Given the description of an element on the screen output the (x, y) to click on. 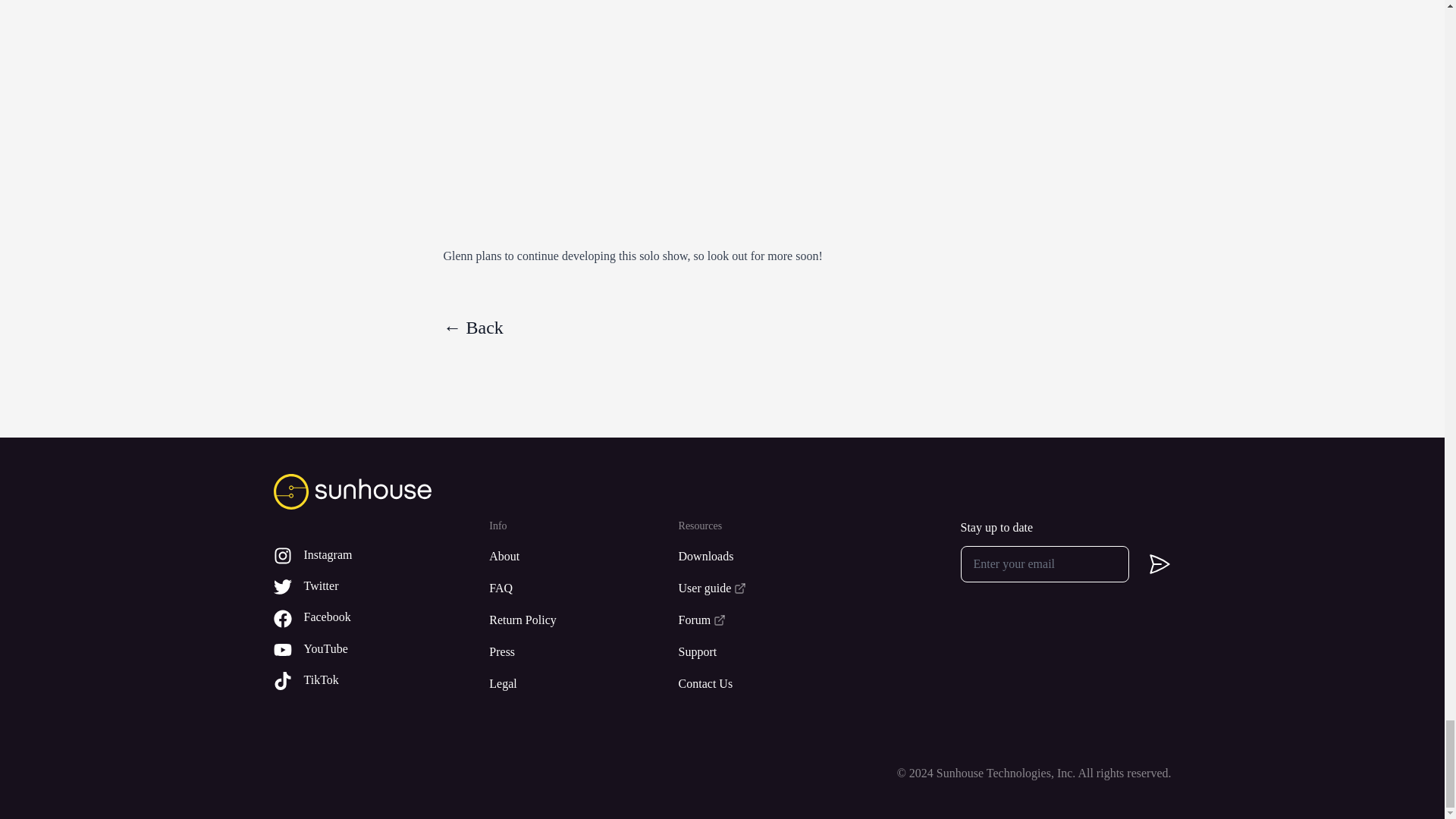
YouTube (362, 649)
TikTok (362, 680)
Facebook (362, 617)
FAQ (565, 588)
Legal (565, 683)
About (565, 556)
Twitter (362, 586)
Return Policy (565, 619)
Press (565, 651)
Instagram (362, 555)
